Given the description of an element on the screen output the (x, y) to click on. 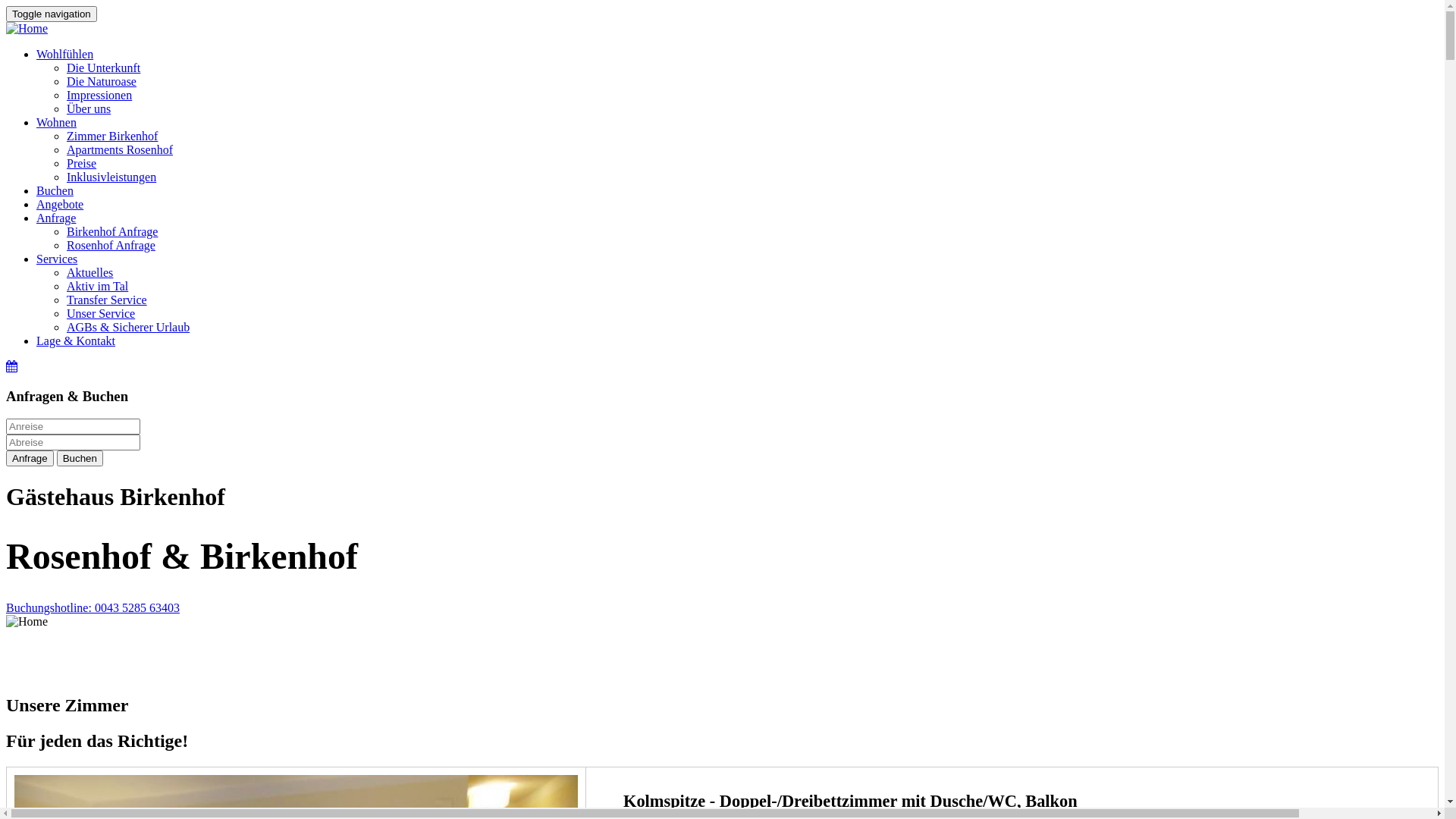
Unser Service Element type: text (100, 313)
AGBs & Sicherer Urlaub Element type: text (127, 326)
Zimmer Birkenhof Element type: text (111, 135)
Buchen Element type: text (54, 190)
Apartments Rosenhof Element type: text (119, 149)
Rosenhof Anfrage Element type: text (110, 244)
Toggle navigation Element type: text (51, 13)
Preise Element type: text (81, 162)
Birkenhof Anfrage Element type: text (111, 231)
Anfrage Element type: text (55, 217)
Home Element type: hover (26, 28)
Home Element type: hover (26, 621)
Die Unterkunft Element type: text (103, 67)
Aktuelles Element type: text (89, 272)
Aktiv im Tal Element type: text (97, 285)
Anfrage Element type: text (29, 458)
Die Naturoase Element type: text (101, 81)
Transfer Service Element type: text (106, 299)
Lage & Kontakt Element type: text (75, 340)
Inklusivleistungen Element type: text (111, 176)
Angebote Element type: text (59, 203)
Wohnen Element type: text (56, 122)
Services Element type: text (56, 258)
Buchungshotline: 0043 5285 63403 Element type: text (92, 607)
Impressionen Element type: text (98, 94)
Buchen Element type: text (79, 458)
